Given the description of an element on the screen output the (x, y) to click on. 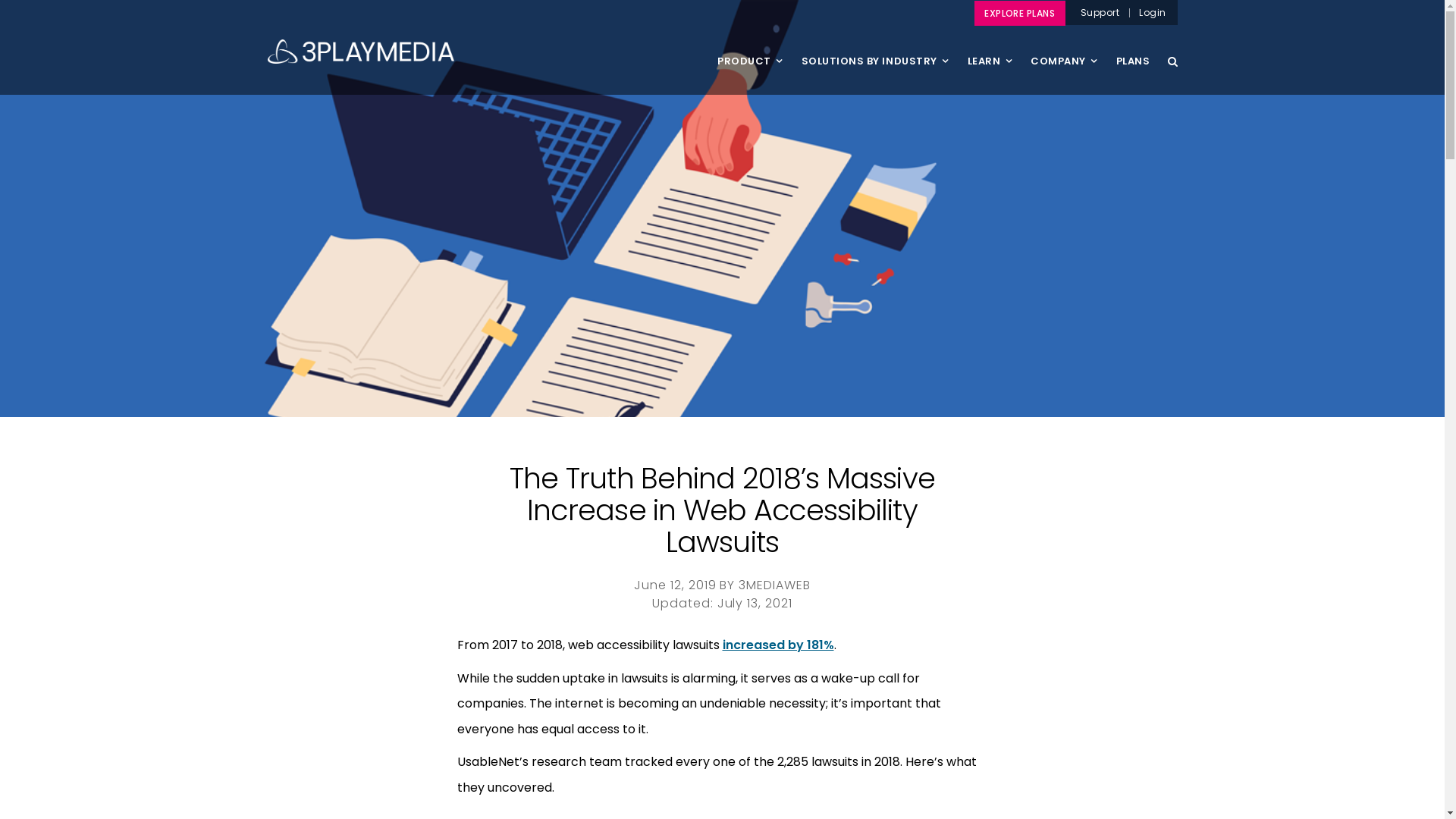
Login Element type: text (1152, 12)
Search Element type: text (1172, 61)
increased by 181% Element type: text (777, 644)
Support Element type: text (1099, 12)
PRODUCT Element type: text (749, 73)
EXPLORE PLANS Element type: text (1019, 12)
LEARN Element type: text (989, 73)
PLANS Element type: text (1133, 73)
SOLUTIONS BY INDUSTRY Element type: text (874, 73)
COMPANY Element type: text (1063, 73)
